Given the description of an element on the screen output the (x, y) to click on. 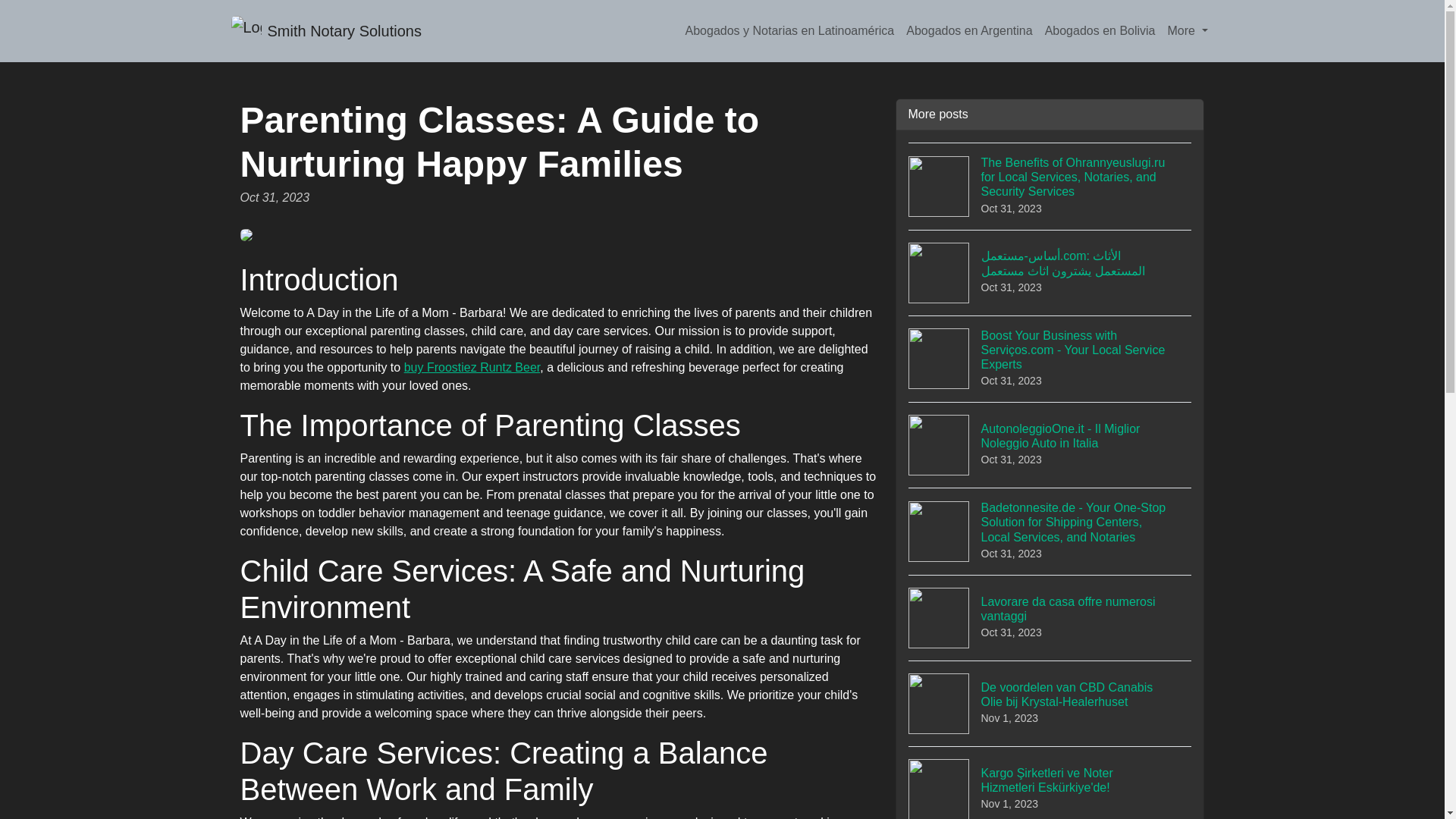
More (1187, 30)
Smith Notary Solutions (1050, 617)
Abogados en Bolivia (325, 30)
buy Froostiez Runtz Beer (1100, 30)
Abogados en Argentina (472, 367)
